Given the description of an element on the screen output the (x, y) to click on. 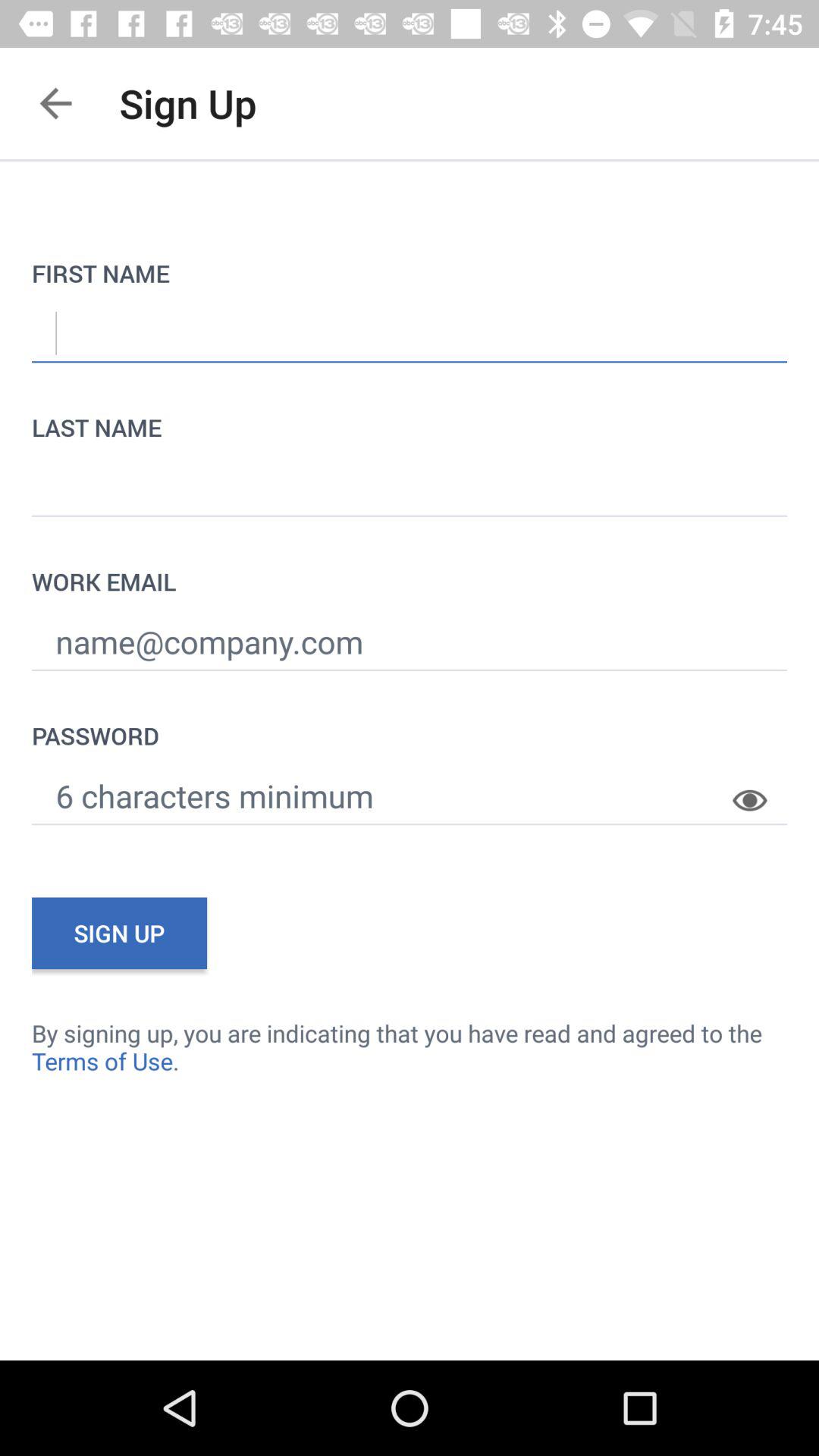
open the item below password item (759, 788)
